Given the description of an element on the screen output the (x, y) to click on. 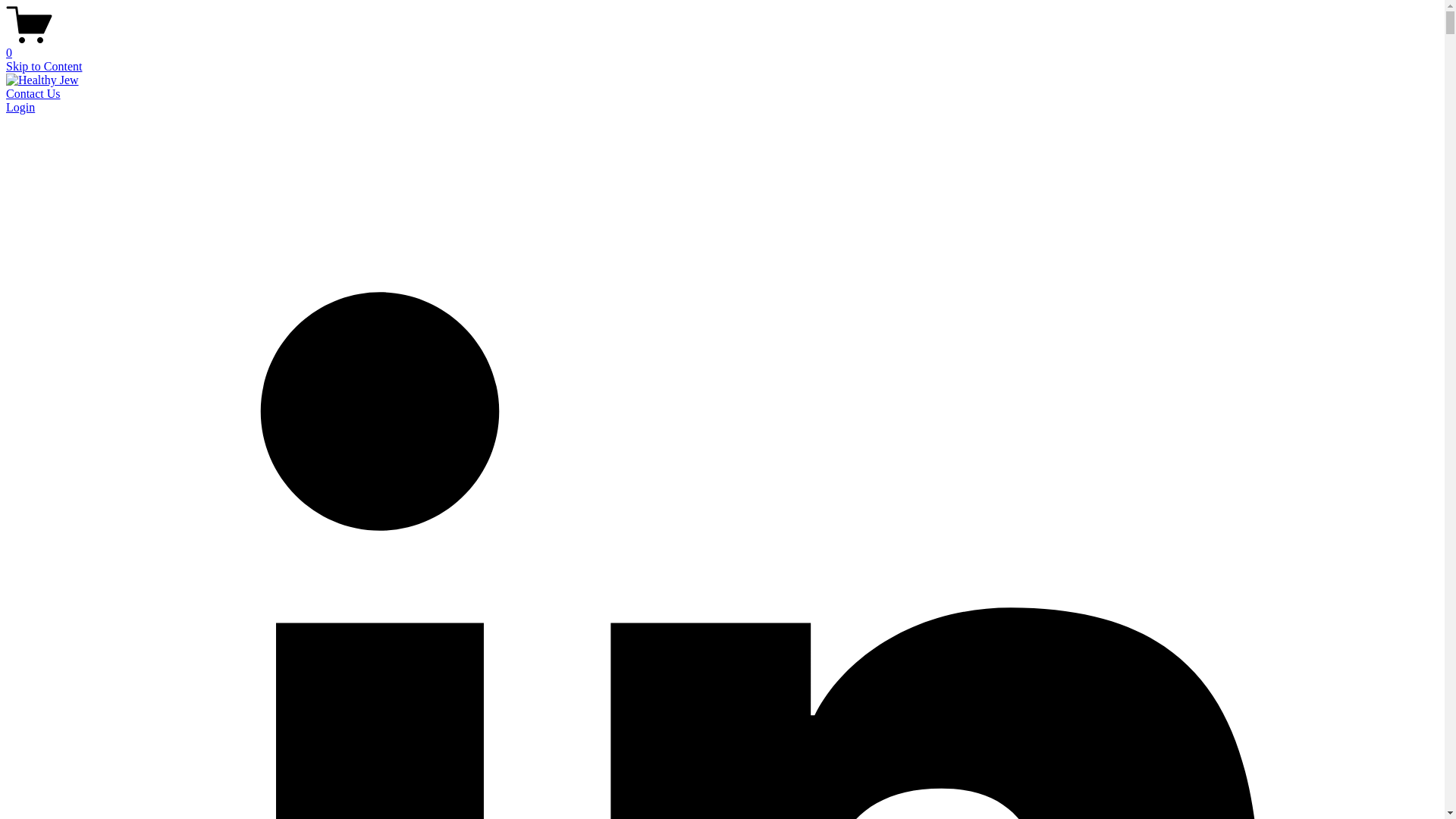
Skip to Content (43, 65)
Contact Us (33, 92)
Login (19, 106)
